Given the description of an element on the screen output the (x, y) to click on. 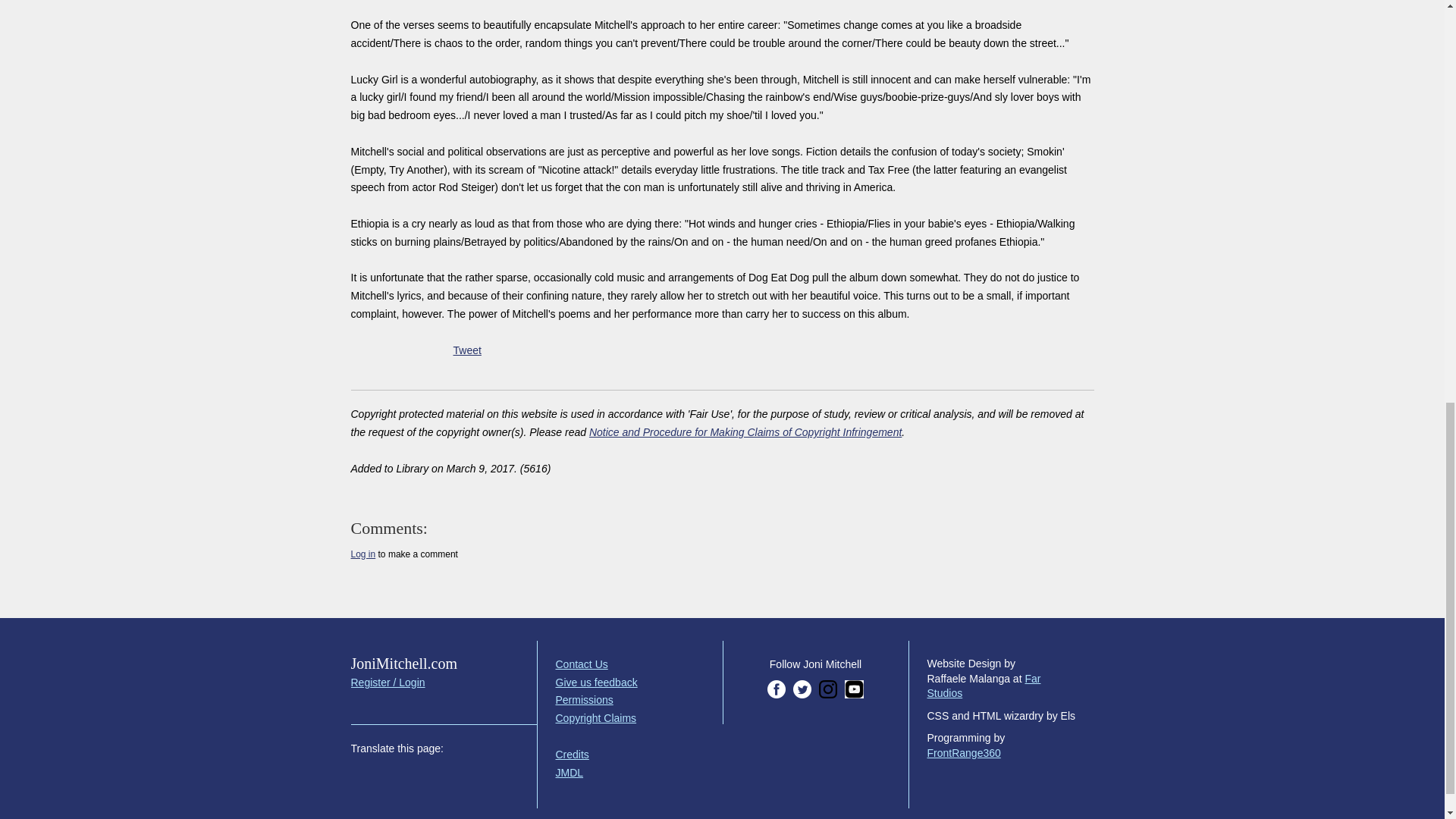
JMDL (568, 772)
Permissions (583, 699)
Give us feedback (595, 682)
FrontRange360 (963, 752)
Credits (571, 754)
Tweet (466, 349)
Contact Us (580, 664)
Far Studios (983, 686)
Copyright Claims (595, 717)
Log in (362, 553)
